Given the description of an element on the screen output the (x, y) to click on. 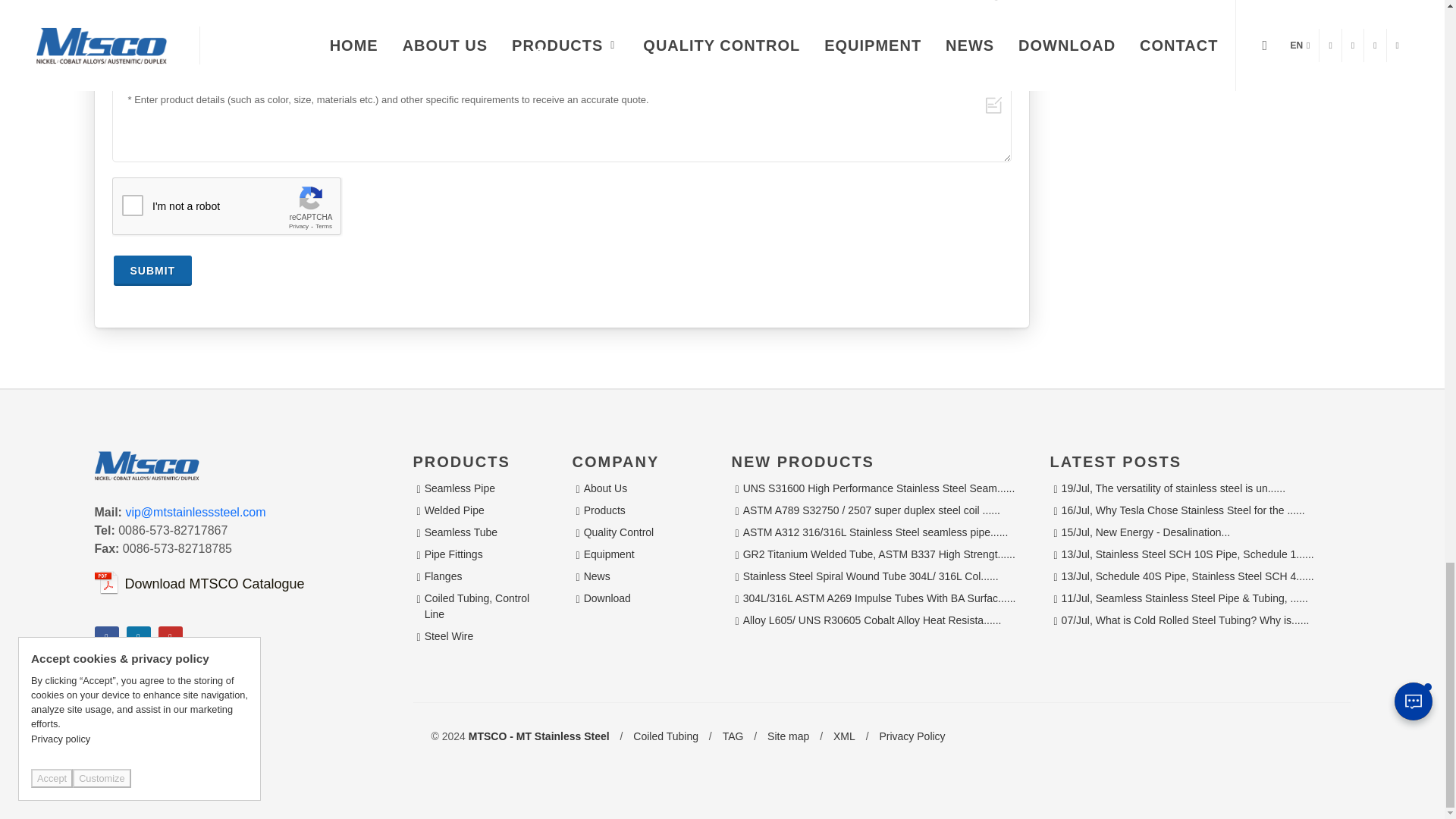
reCAPTCHA (227, 206)
SUBMIT (152, 270)
